Given the description of an element on the screen output the (x, y) to click on. 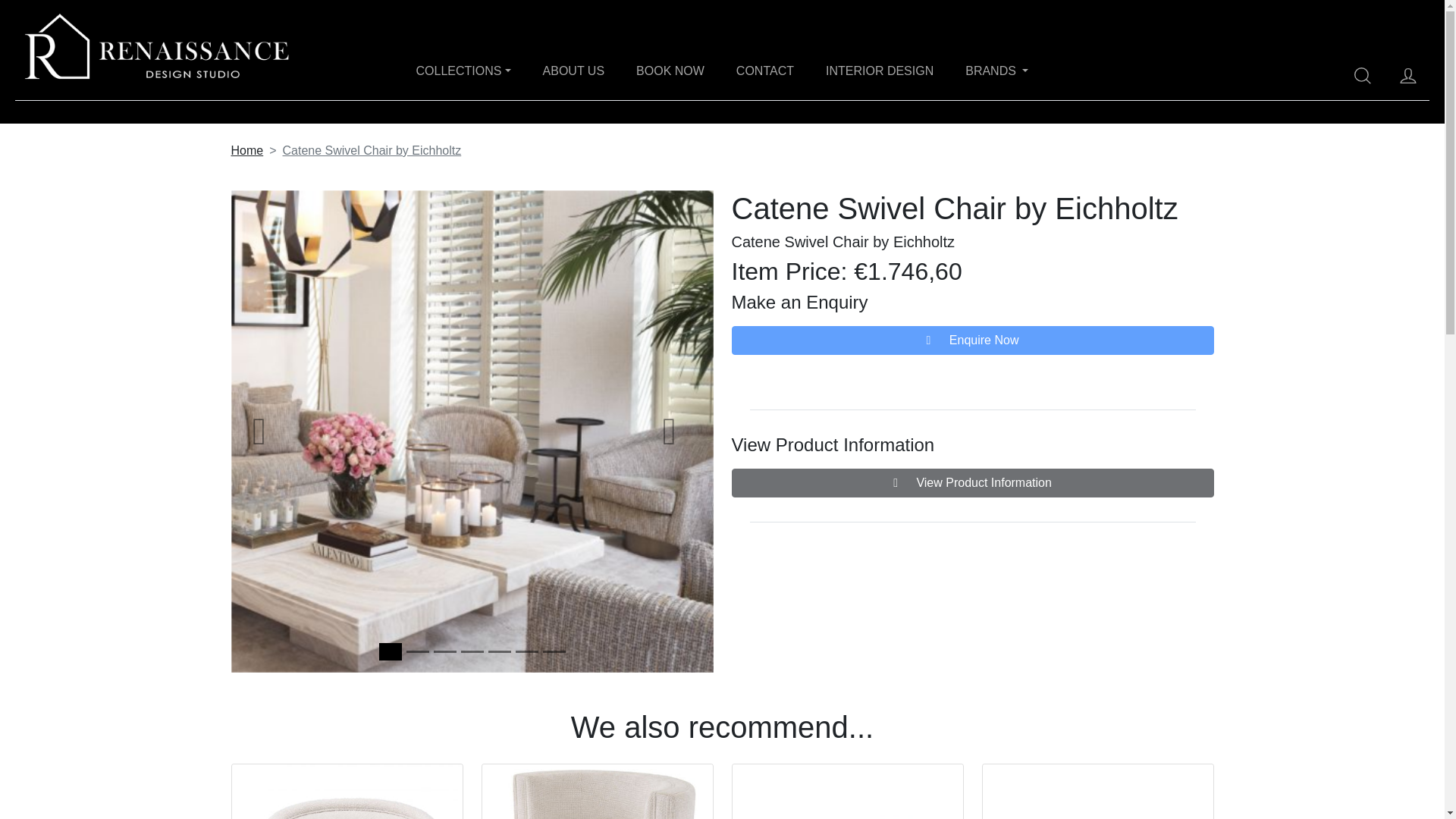
BRANDS (996, 72)
COLLECTIONS (463, 72)
BRANDS (996, 71)
ABOUT US (574, 72)
CONTACT (764, 72)
Home (246, 150)
BOOK NOW (670, 72)
INTERIOR DESIGN (879, 72)
BOOK NOW (670, 71)
COLLECTIONS (463, 71)
ABOUT US (574, 71)
CONTACT (764, 71)
INTERIOR DESIGN (879, 71)
